Given the description of an element on the screen output the (x, y) to click on. 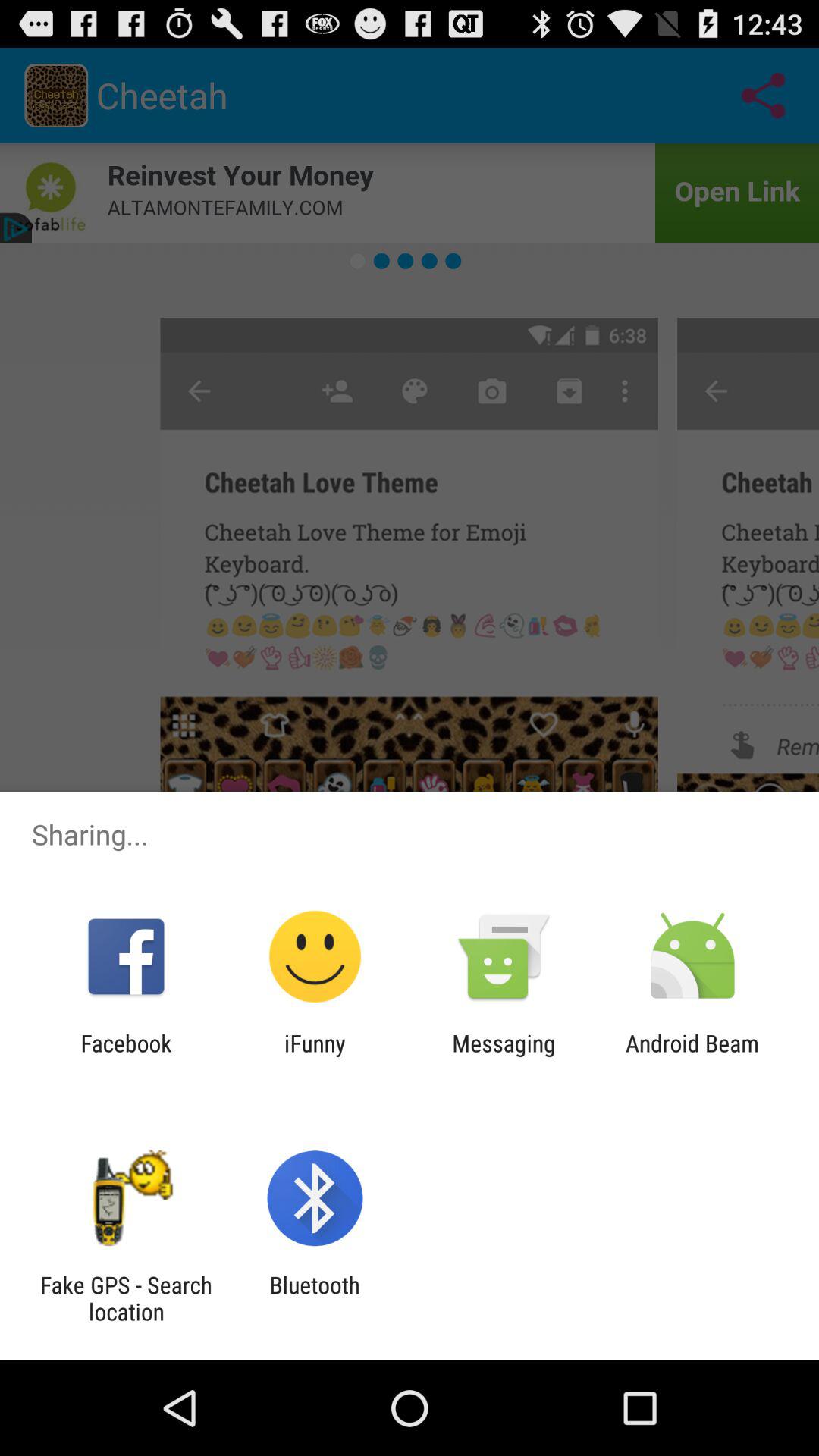
open app to the right of the fake gps search item (314, 1298)
